Given the description of an element on the screen output the (x, y) to click on. 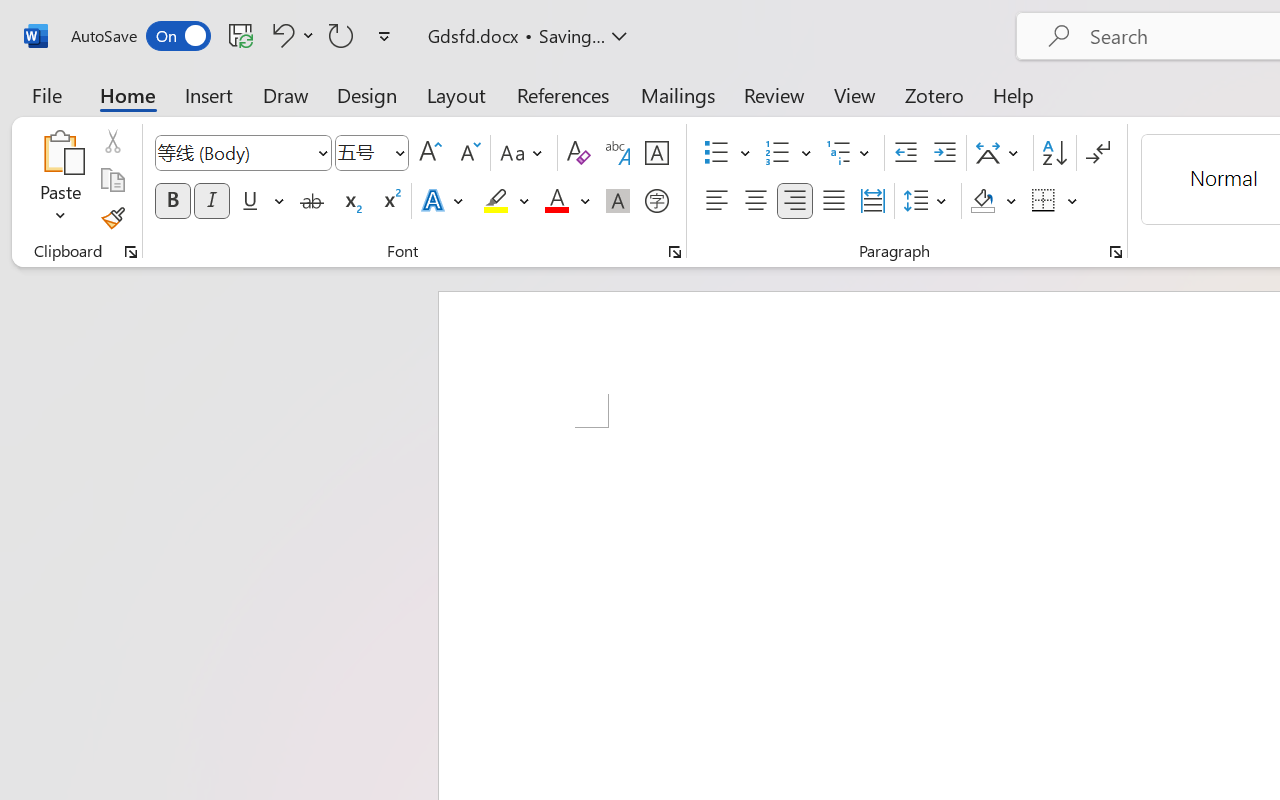
Subscript (350, 201)
Change Case (524, 153)
Font Color Red (556, 201)
Repeat Style (341, 35)
Shading (993, 201)
Line and Paragraph Spacing (927, 201)
Asian Layout (1000, 153)
Undo Style (280, 35)
Undo Style (290, 35)
